Given the description of an element on the screen output the (x, y) to click on. 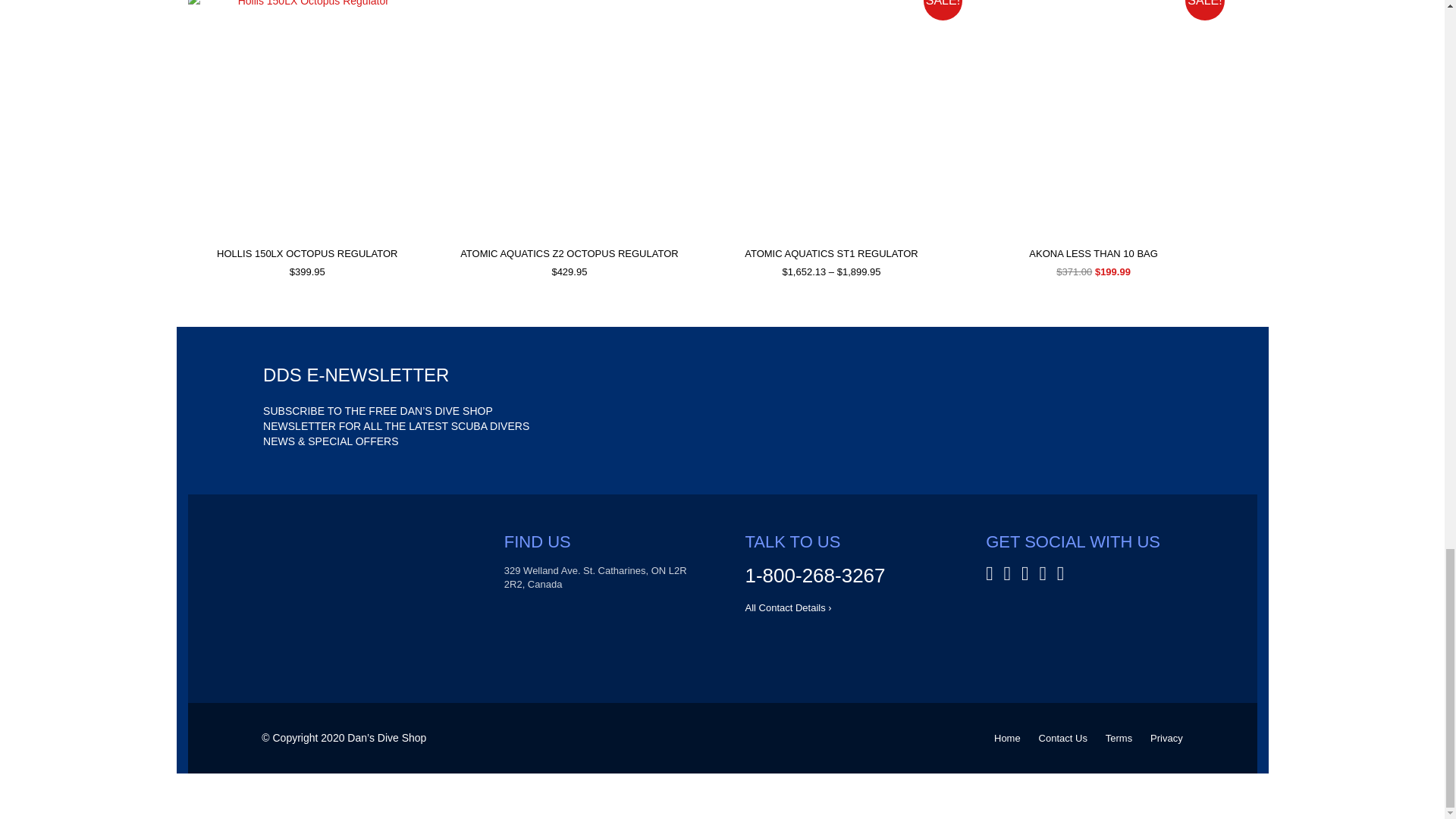
Dan's Dive Shop (360, 587)
